Given the description of an element on the screen output the (x, y) to click on. 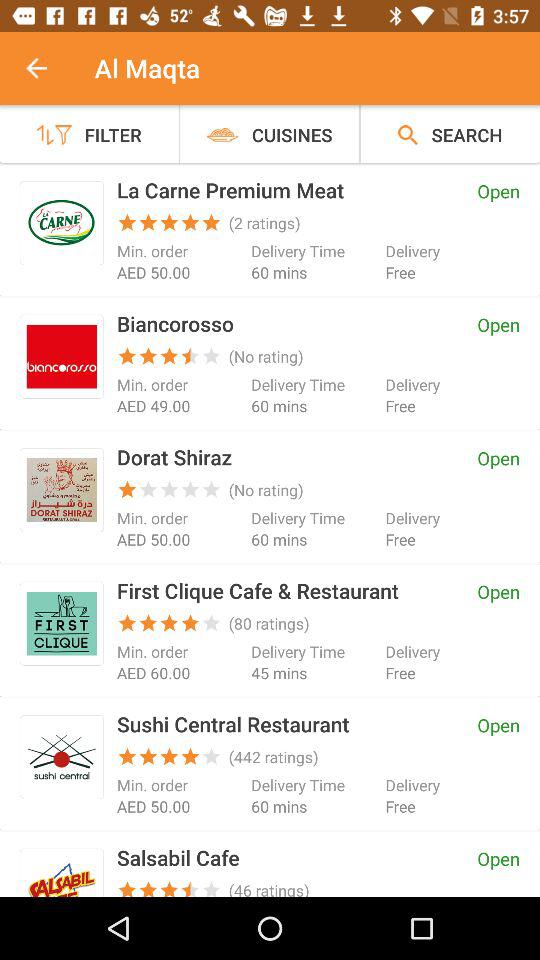
app icon (61, 623)
